Given the description of an element on the screen output the (x, y) to click on. 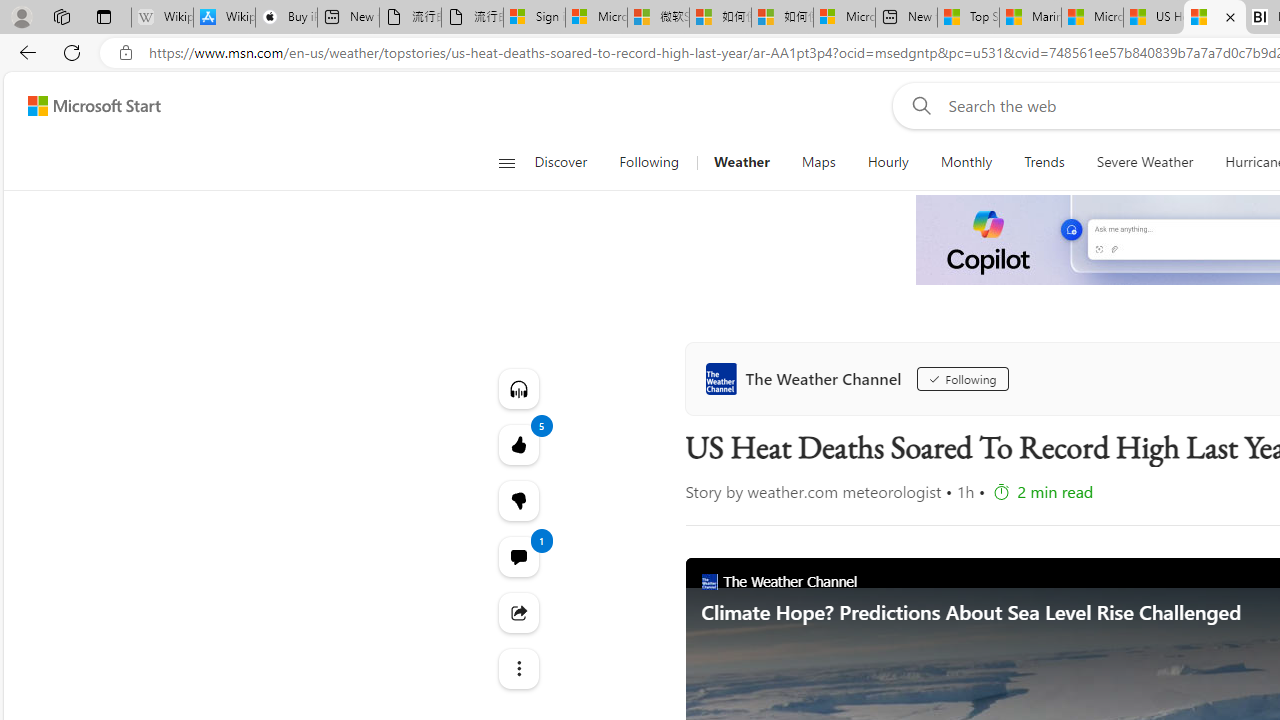
Discover (560, 162)
Skip to footer (82, 105)
Sign in to your Microsoft account (534, 17)
Dislike (517, 500)
Severe Weather (1144, 162)
Open navigation menu (506, 162)
Share this story (517, 612)
Following (649, 162)
Weather (741, 162)
Buy iPad - Apple (286, 17)
Top Stories - MSN (968, 17)
Weather (741, 162)
